Given the description of an element on the screen output the (x, y) to click on. 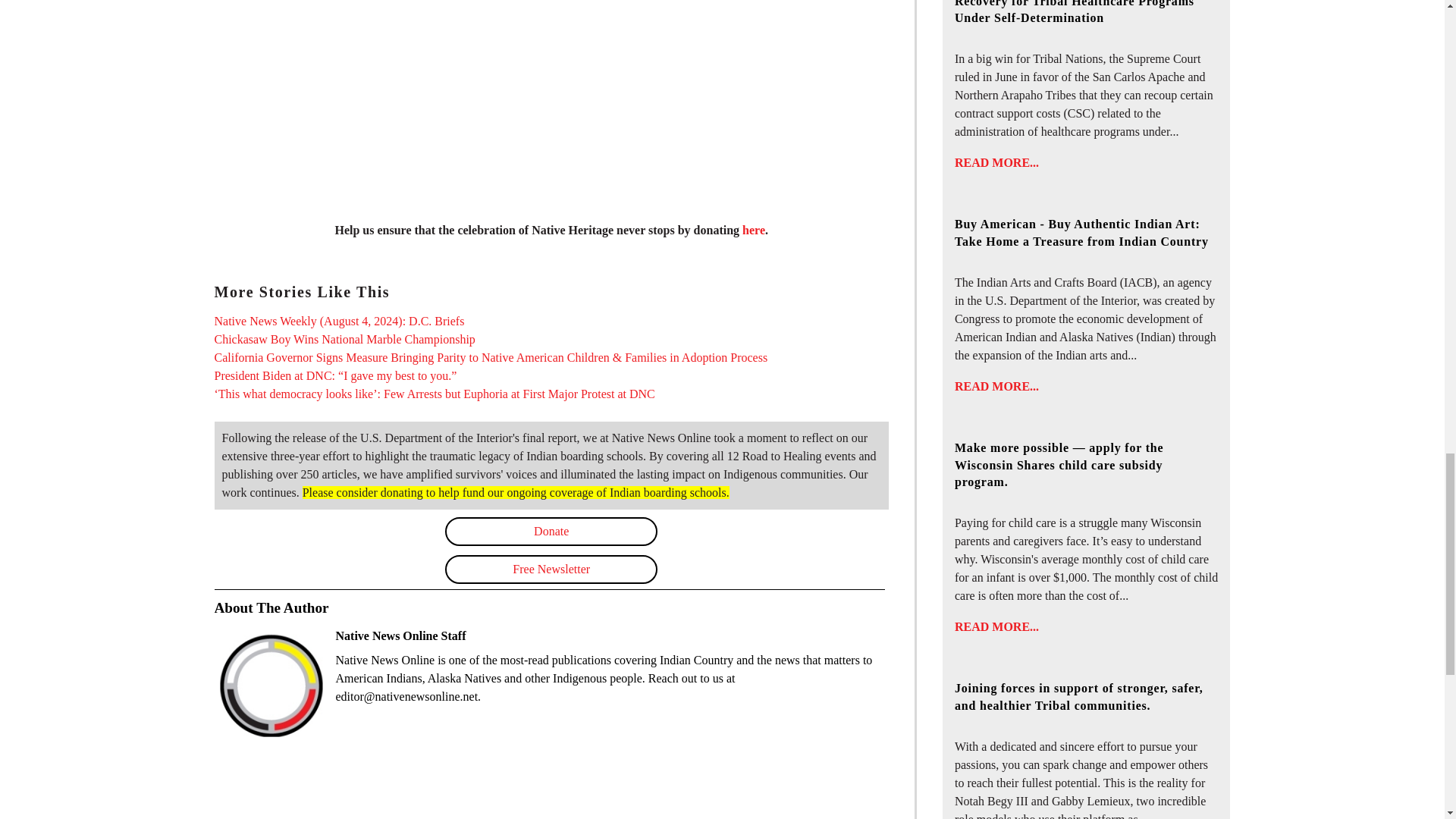
YouTube video player (550, 99)
Chickasaw Boy Wins National Marble Championship (344, 338)
here (753, 229)
